Given the description of an element on the screen output the (x, y) to click on. 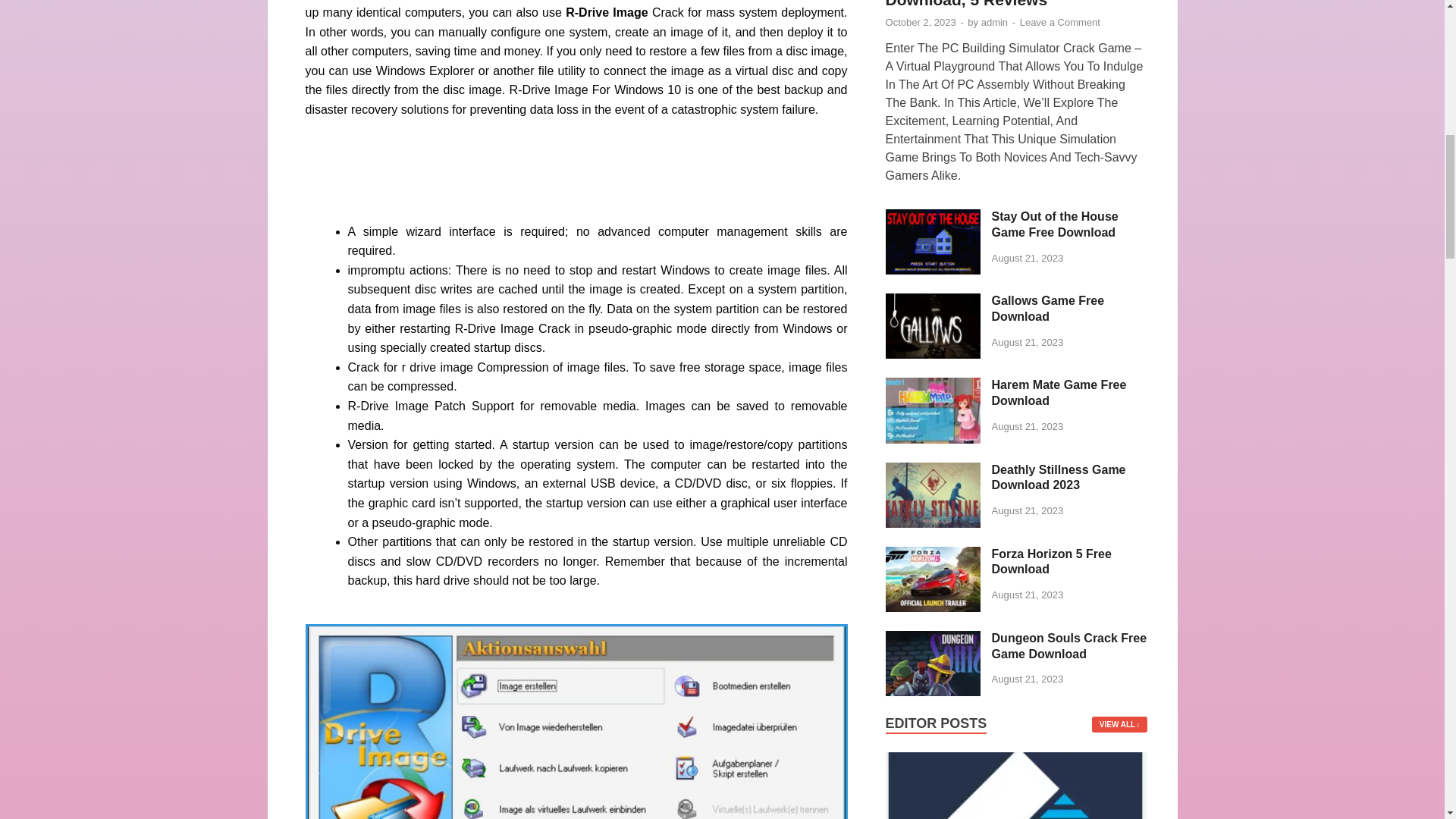
Stay Out of the House Game Free Download (932, 217)
Forza Horizon 5 Free Download (932, 554)
Deathly Stillness Game Download 2023 (932, 470)
Dungeon Souls Crack Free Game Download (932, 639)
Gallows Game Free Download (932, 301)
Harem Mate Game Free Download (932, 386)
